Given the description of an element on the screen output the (x, y) to click on. 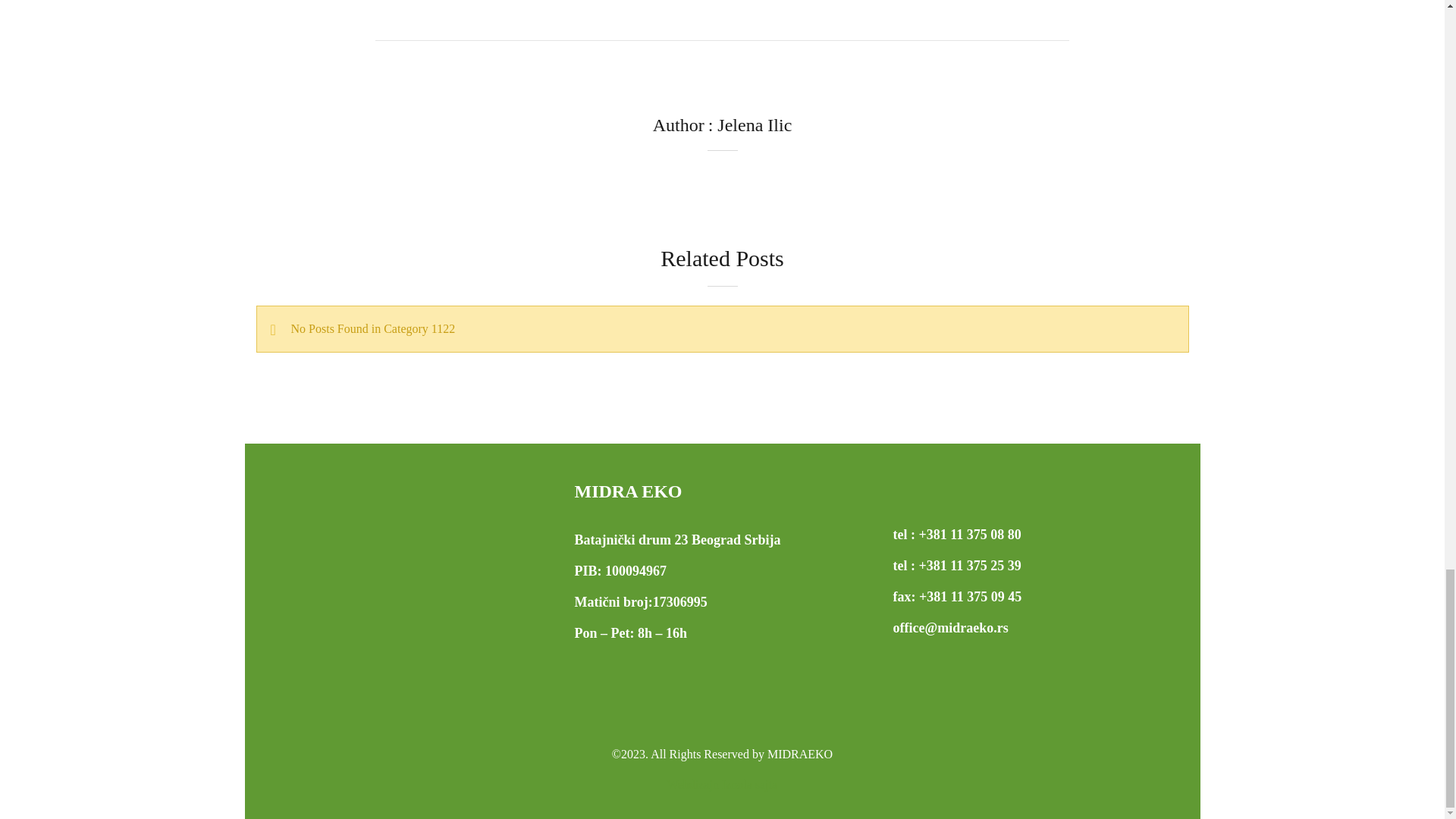
Jelena Ilic (754, 125)
Webdizajn Izrada sajta (721, 784)
MIDRAEKO (799, 753)
Izrada sajta (721, 784)
